Given the description of an element on the screen output the (x, y) to click on. 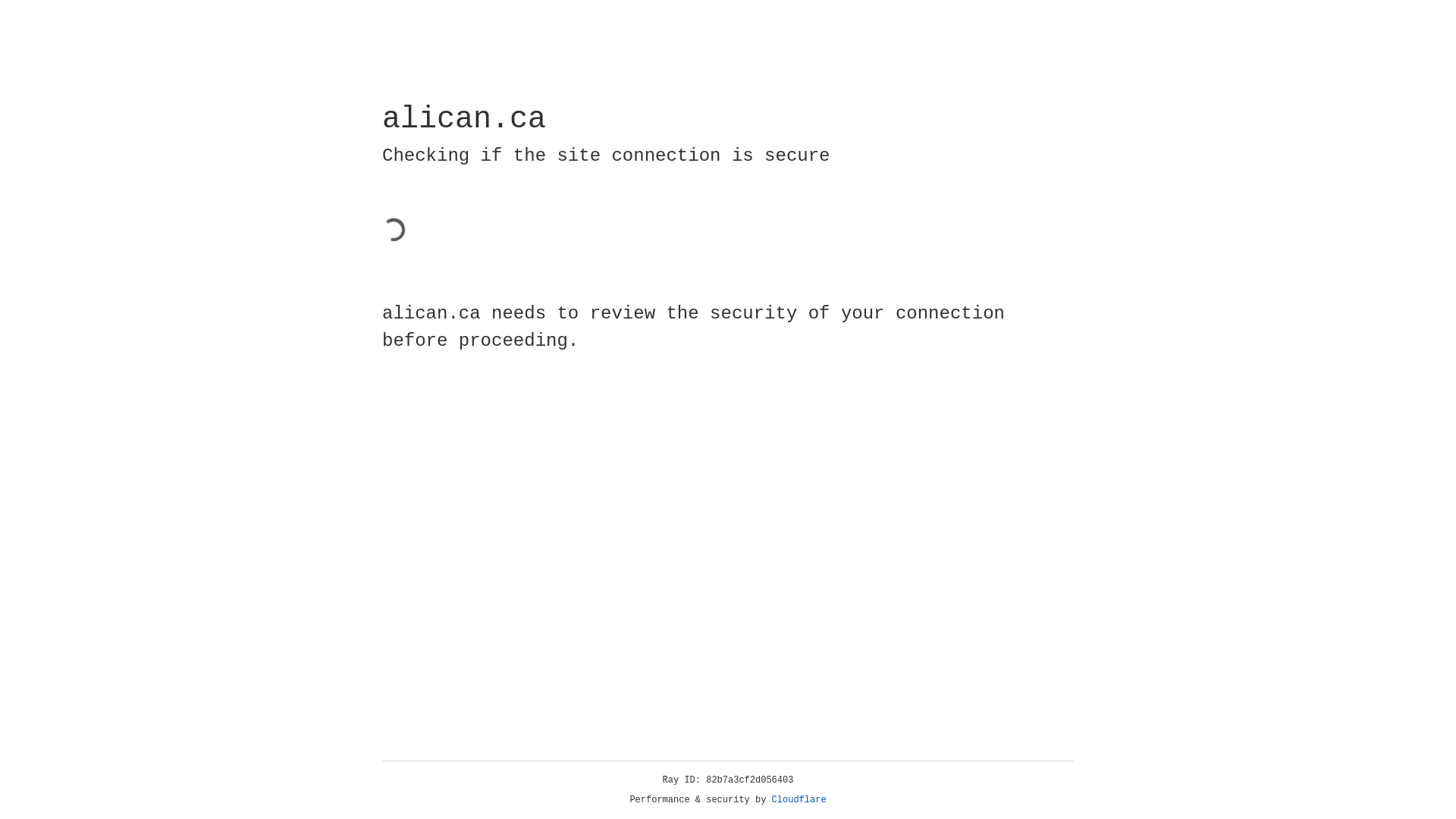
Cloudflare Element type: text (798, 799)
